Given the description of an element on the screen output the (x, y) to click on. 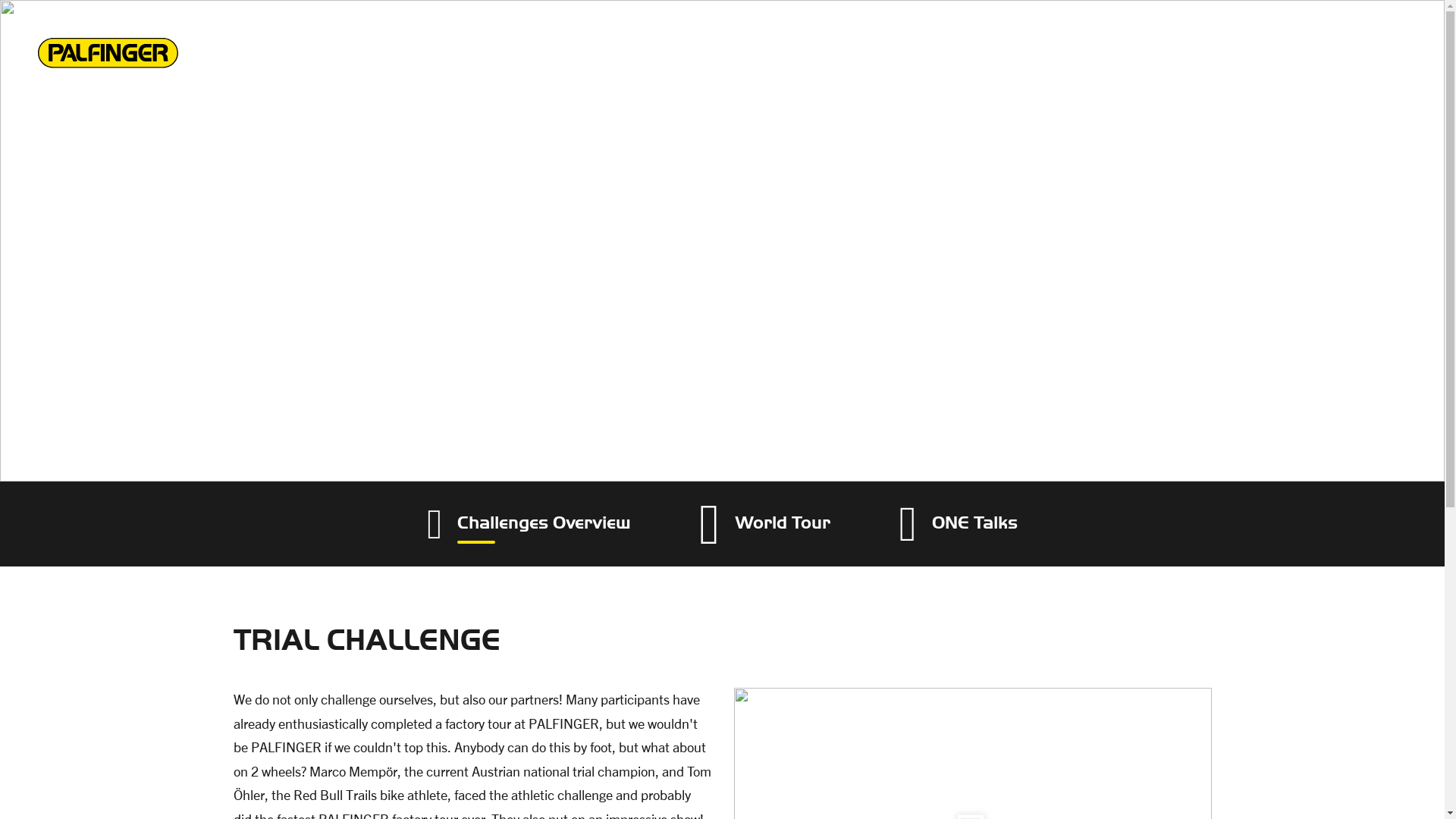
Challenges Overview (528, 524)
World Tour (763, 524)
ONE Talks (957, 523)
